Given the description of an element on the screen output the (x, y) to click on. 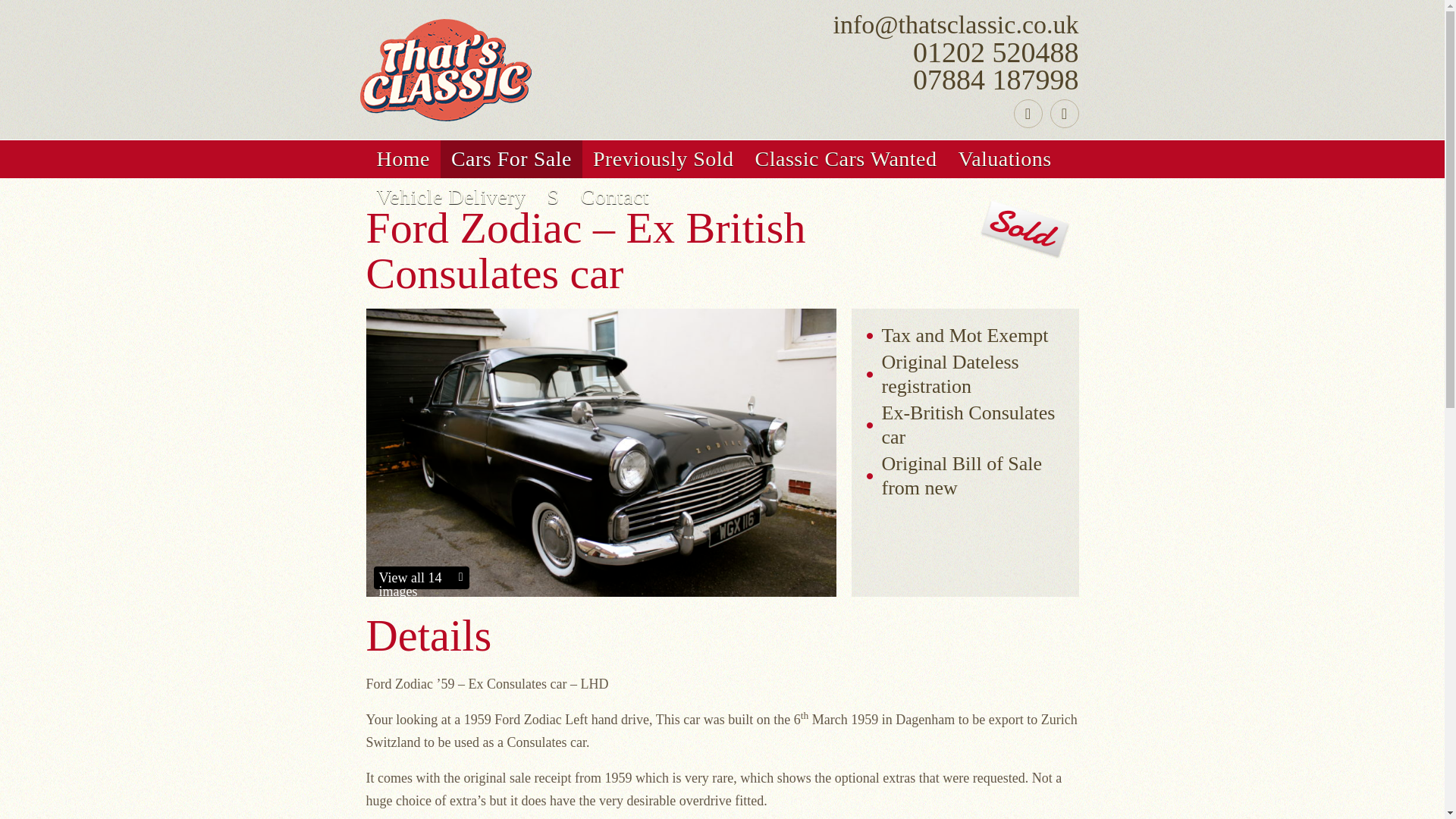
Home (402, 159)
Contact (615, 197)
Vehicle Delivery (450, 197)
Valuations (1004, 159)
Classic Cars Wanted (845, 159)
Cars For Sale (511, 159)
Previously Sold (663, 159)
